Given the description of an element on the screen output the (x, y) to click on. 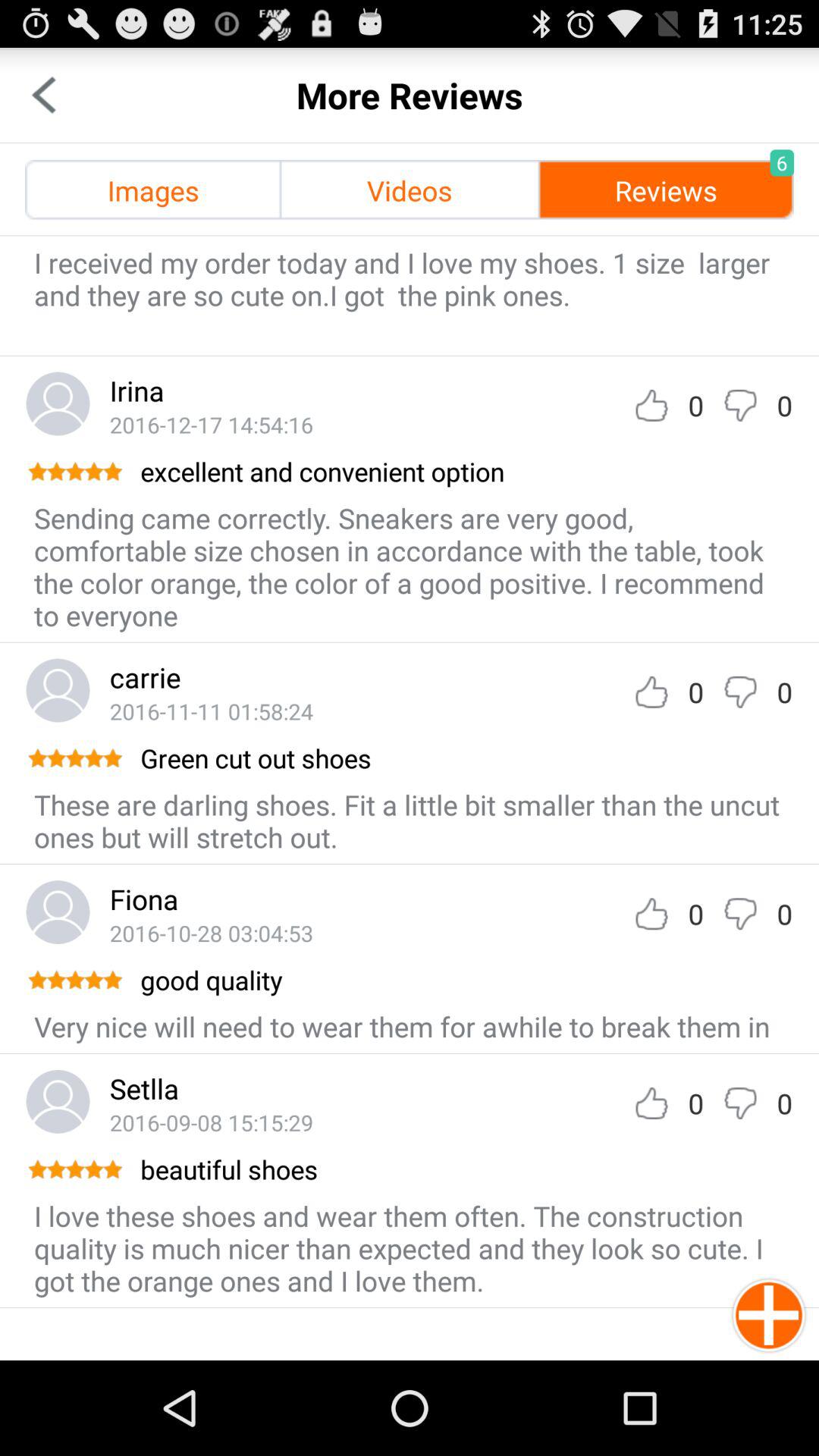
previous page (43, 95)
